Given the description of an element on the screen output the (x, y) to click on. 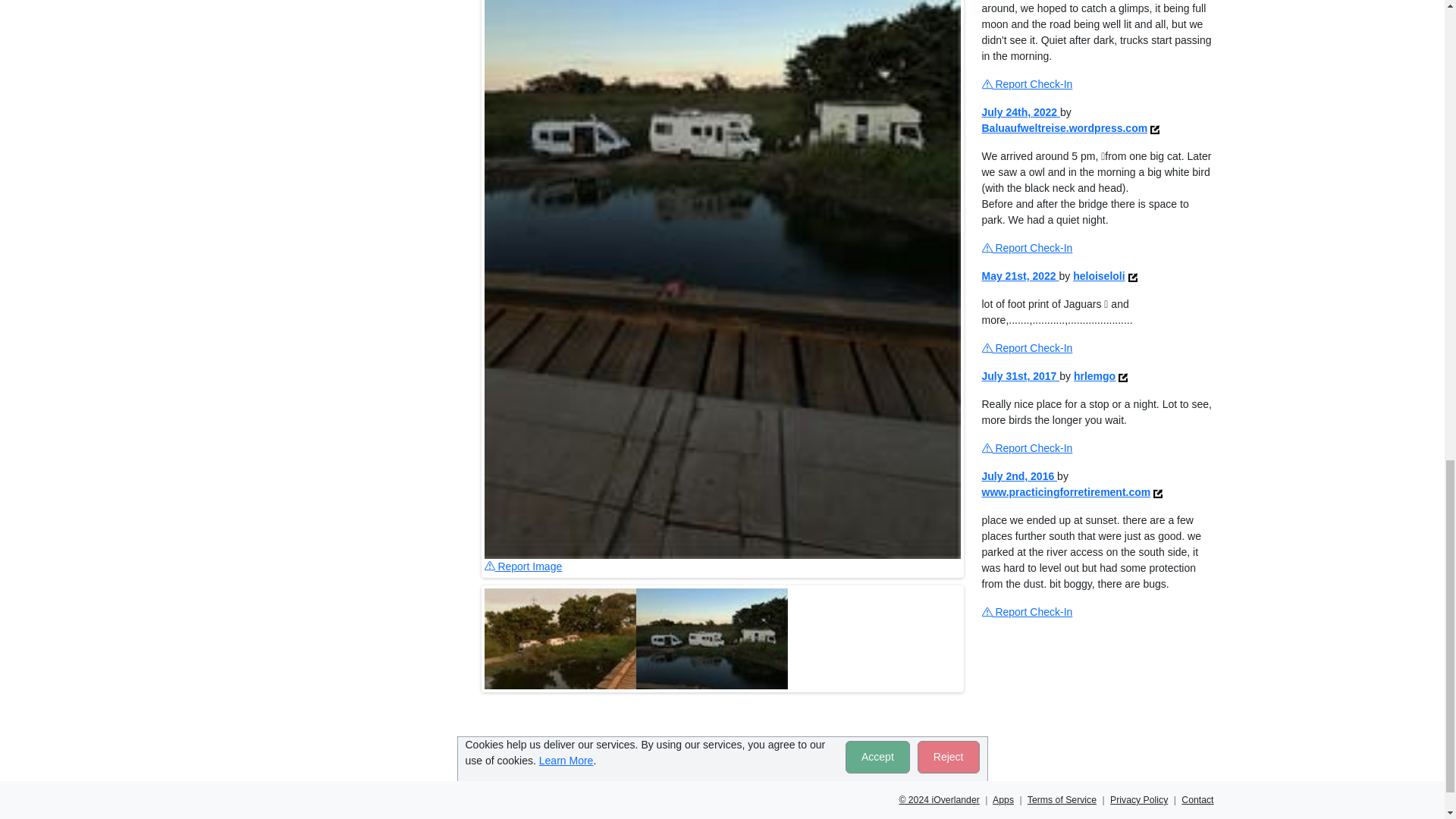
Report Image (522, 566)
